Given the description of an element on the screen output the (x, y) to click on. 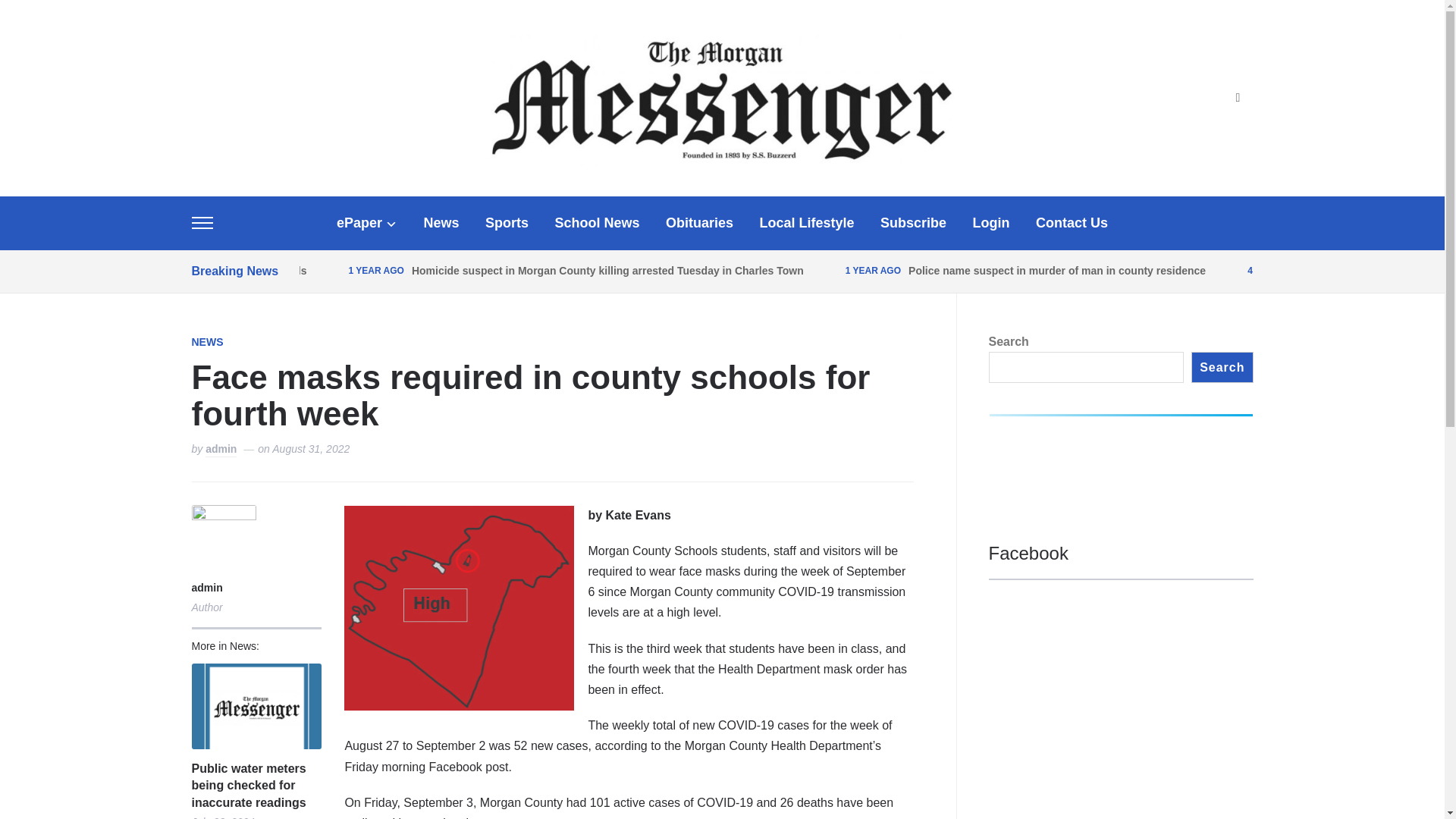
Posts by admin (223, 588)
News (441, 222)
Posts by admin (220, 450)
Search (1237, 98)
State postpones Tuesday hearing on Cacapon RV proposals (154, 270)
Police name suspect in murder of man in county residence (1056, 270)
Sports (506, 222)
ePaper (366, 222)
